Given the description of an element on the screen output the (x, y) to click on. 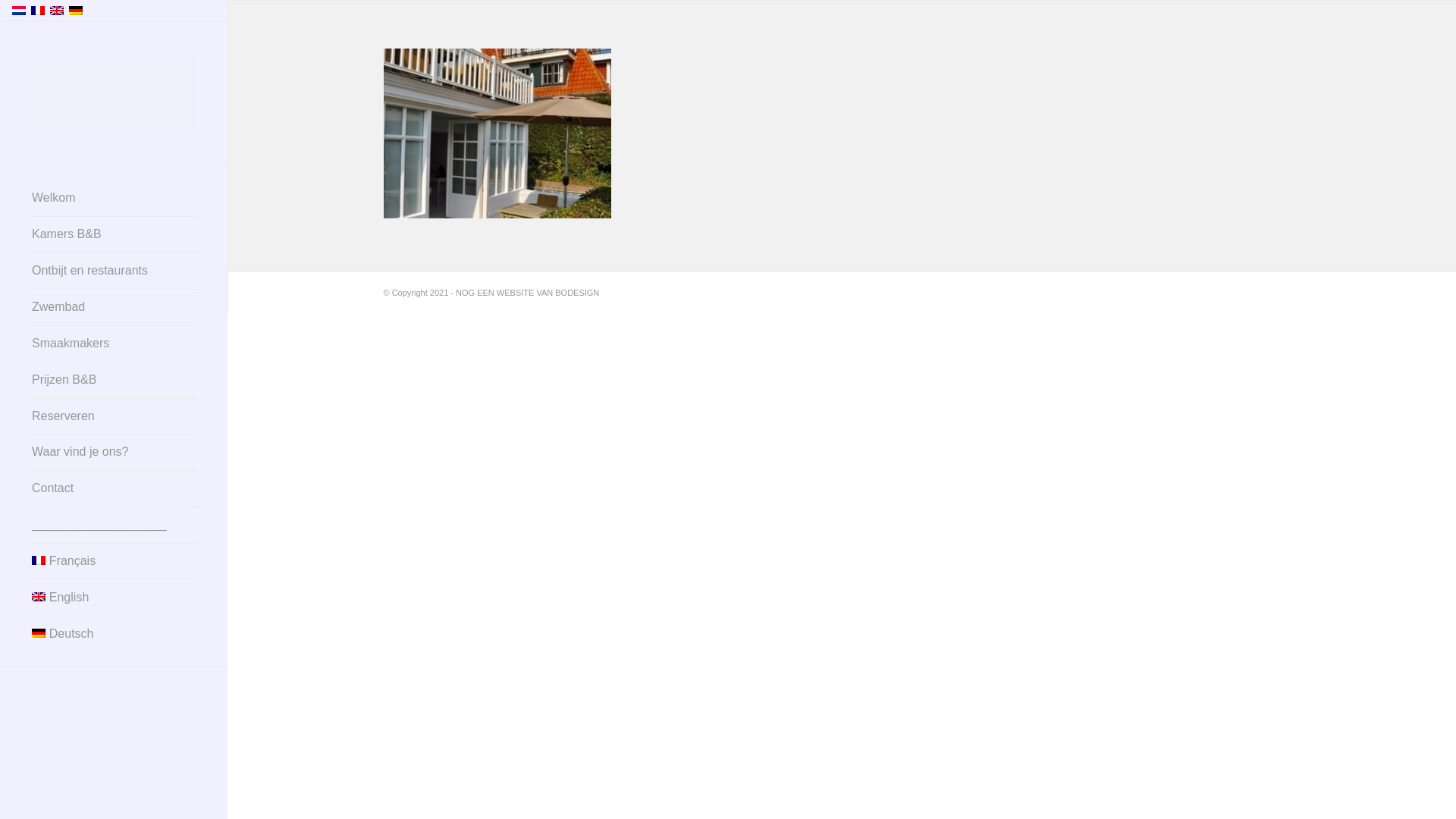
____________________ Element type: text (113, 525)
Reserveren Element type: text (113, 416)
English Element type: text (113, 598)
Deutsch Element type: hover (75, 10)
Zwembad Element type: text (113, 307)
Contact Element type: text (113, 488)
Welkom Element type: text (113, 198)
Smaakmakers Element type: text (113, 344)
English Element type: hover (56, 10)
Nederlands Element type: hover (18, 10)
Deutsch Element type: text (113, 634)
Waar vind je ons? Element type: text (113, 452)
Ontbijt en restaurants Element type: text (113, 271)
Kamers B&B Element type: text (113, 234)
Prijzen B&B Element type: text (113, 380)
